Given the description of an element on the screen output the (x, y) to click on. 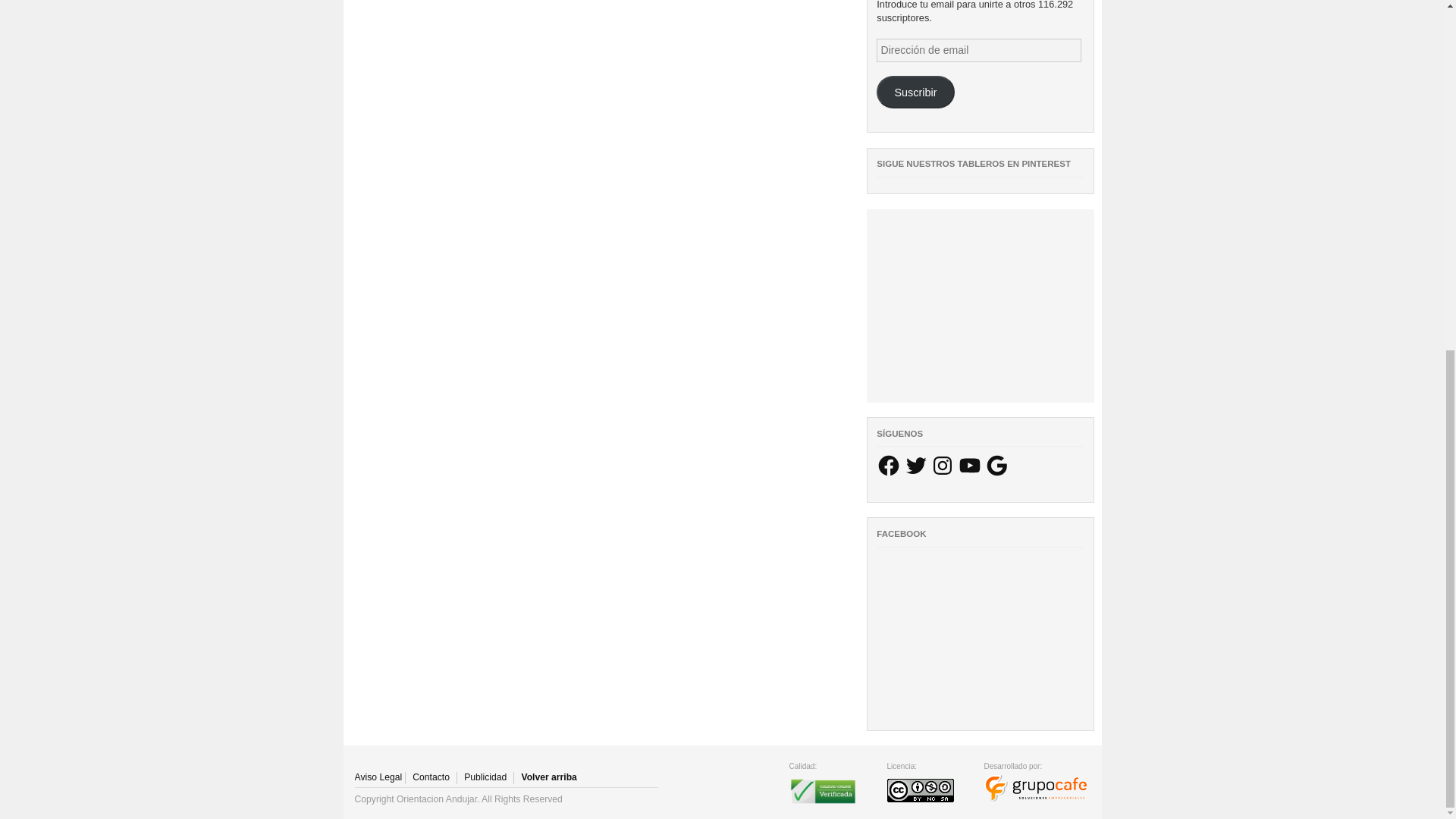
Asocie su imagen a Orientacion Andujar (485, 777)
Aviso Legal (379, 777)
Certificado de calidad web (822, 804)
